Given the description of an element on the screen output the (x, y) to click on. 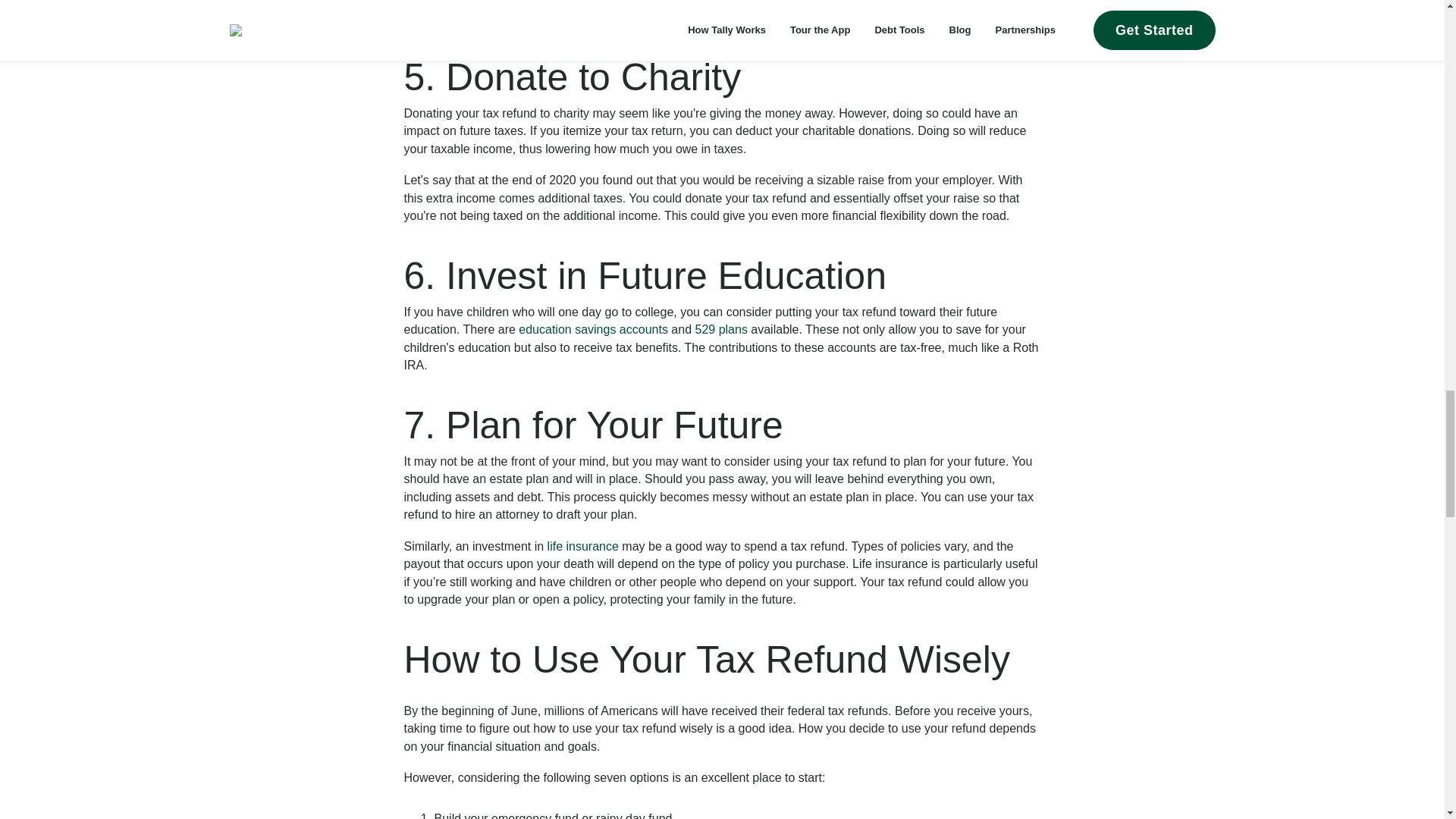
529 plans (720, 328)
education savings accounts (593, 328)
life insurance (582, 545)
